Given the description of an element on the screen output the (x, y) to click on. 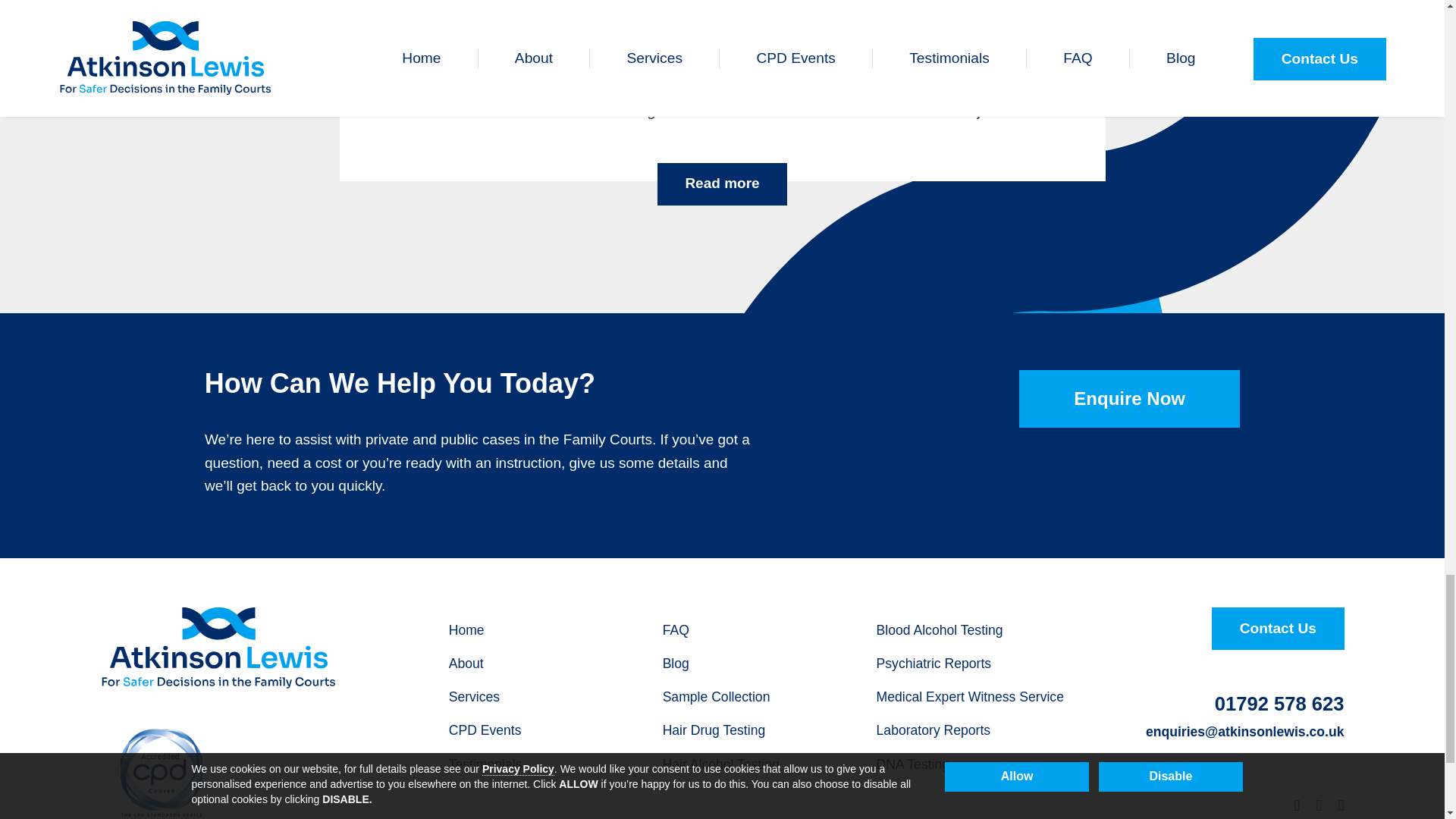
Sample Collection (716, 697)
FAQ (675, 630)
Home (466, 630)
Hair Alcohol Testing (720, 765)
Services (473, 697)
01792 578 623 (1278, 703)
LinkedIn (1297, 806)
Twitter (1319, 806)
Psychiatric Reports (933, 664)
Read more (722, 183)
Enquire Now (1129, 399)
Hair Drug Testing (713, 731)
Blog (675, 664)
Blood Alcohol Testing (939, 630)
Contact Us (1277, 628)
